Given the description of an element on the screen output the (x, y) to click on. 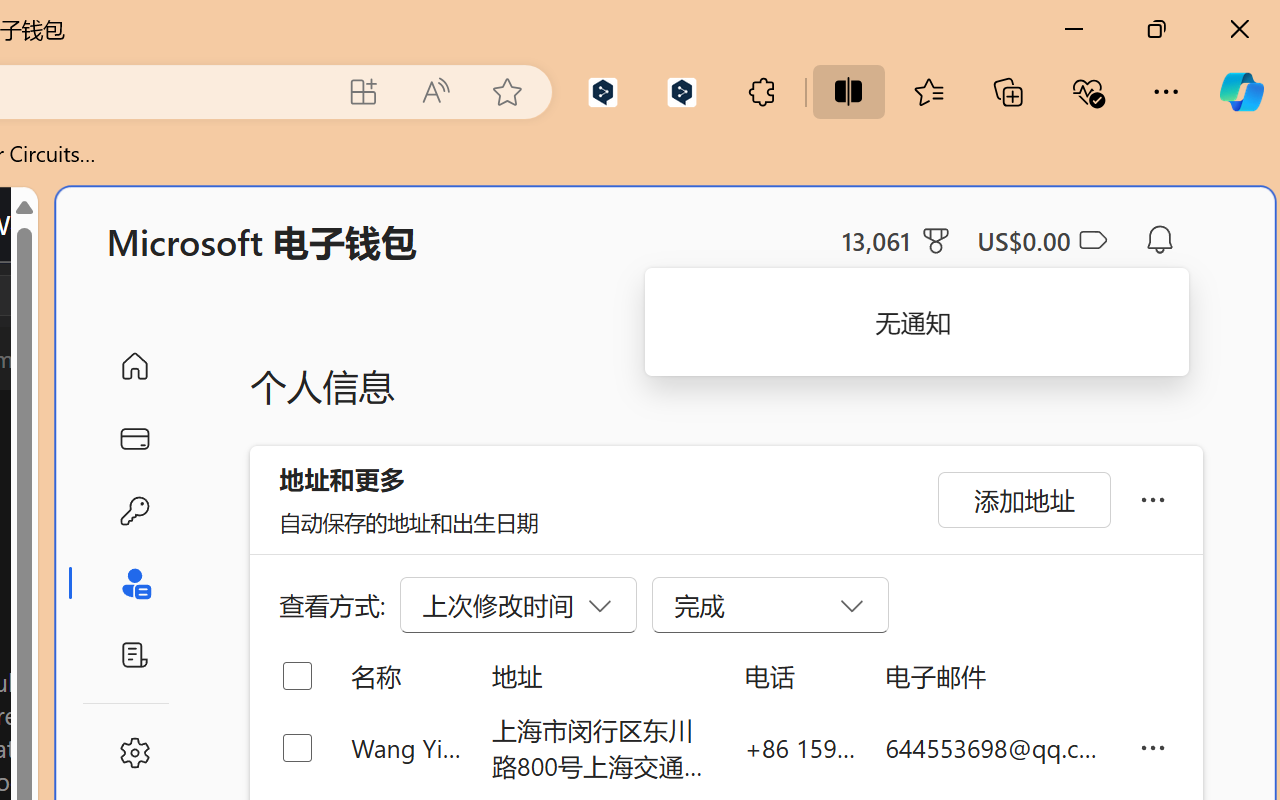
Copilot (Ctrl+Shift+.) (1241, 91)
Wang Yian (406, 747)
644553698@qq.com (996, 747)
+86 159 0032 4640 (799, 747)
